Given the description of an element on the screen output the (x, y) to click on. 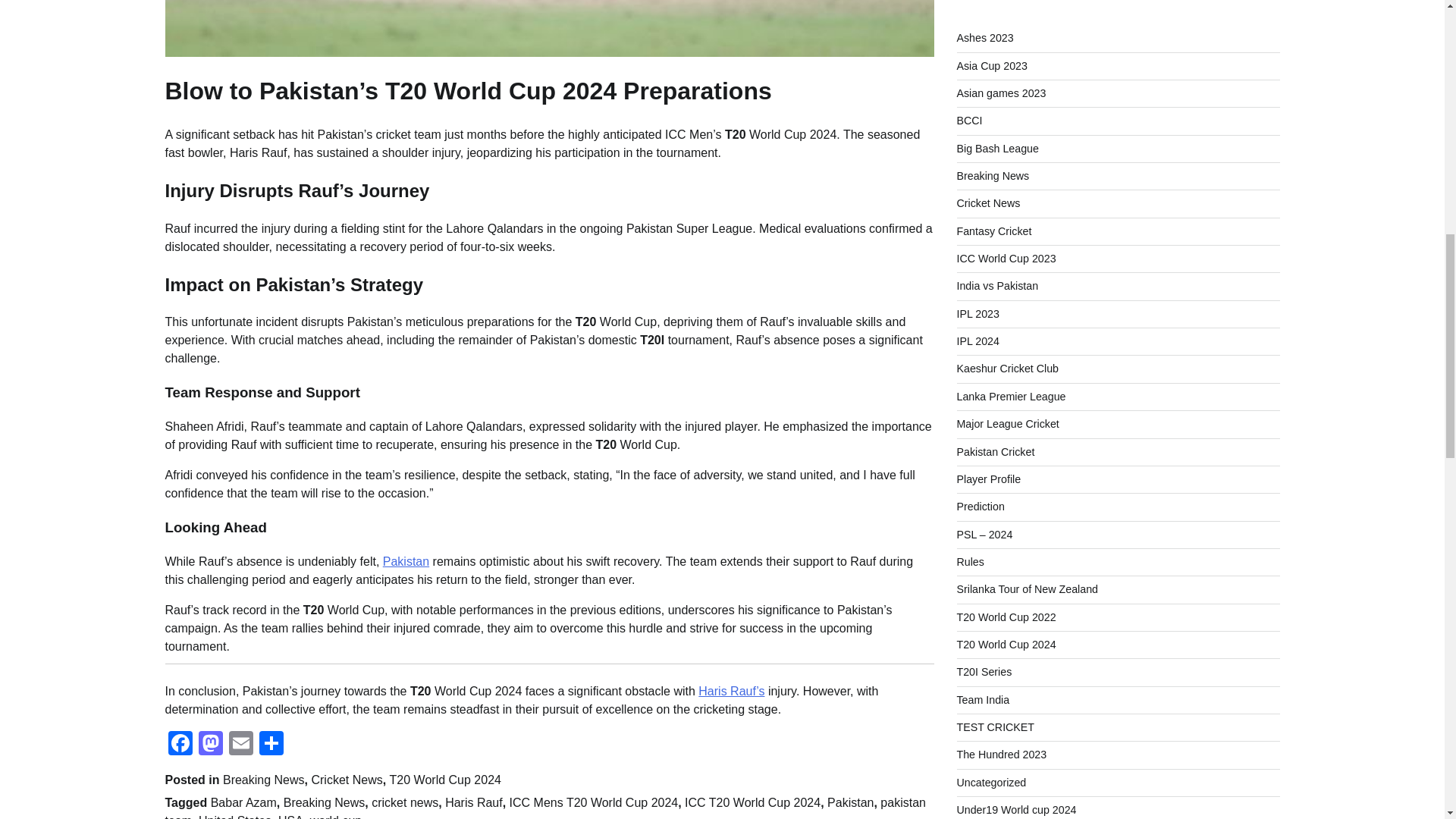
Pakistan (850, 802)
ICC T20 World Cup 2024 (752, 802)
Mastodon (210, 745)
Cricket News (346, 779)
Babar Azam (243, 802)
T20 World Cup 2024 (445, 779)
Facebook (180, 745)
Pakistan (405, 561)
pakistan team (545, 807)
Breaking News (324, 802)
Mastodon (210, 745)
Haris Rauf (473, 802)
Breaking News (263, 779)
cricket news (404, 802)
Email (240, 745)
